Given the description of an element on the screen output the (x, y) to click on. 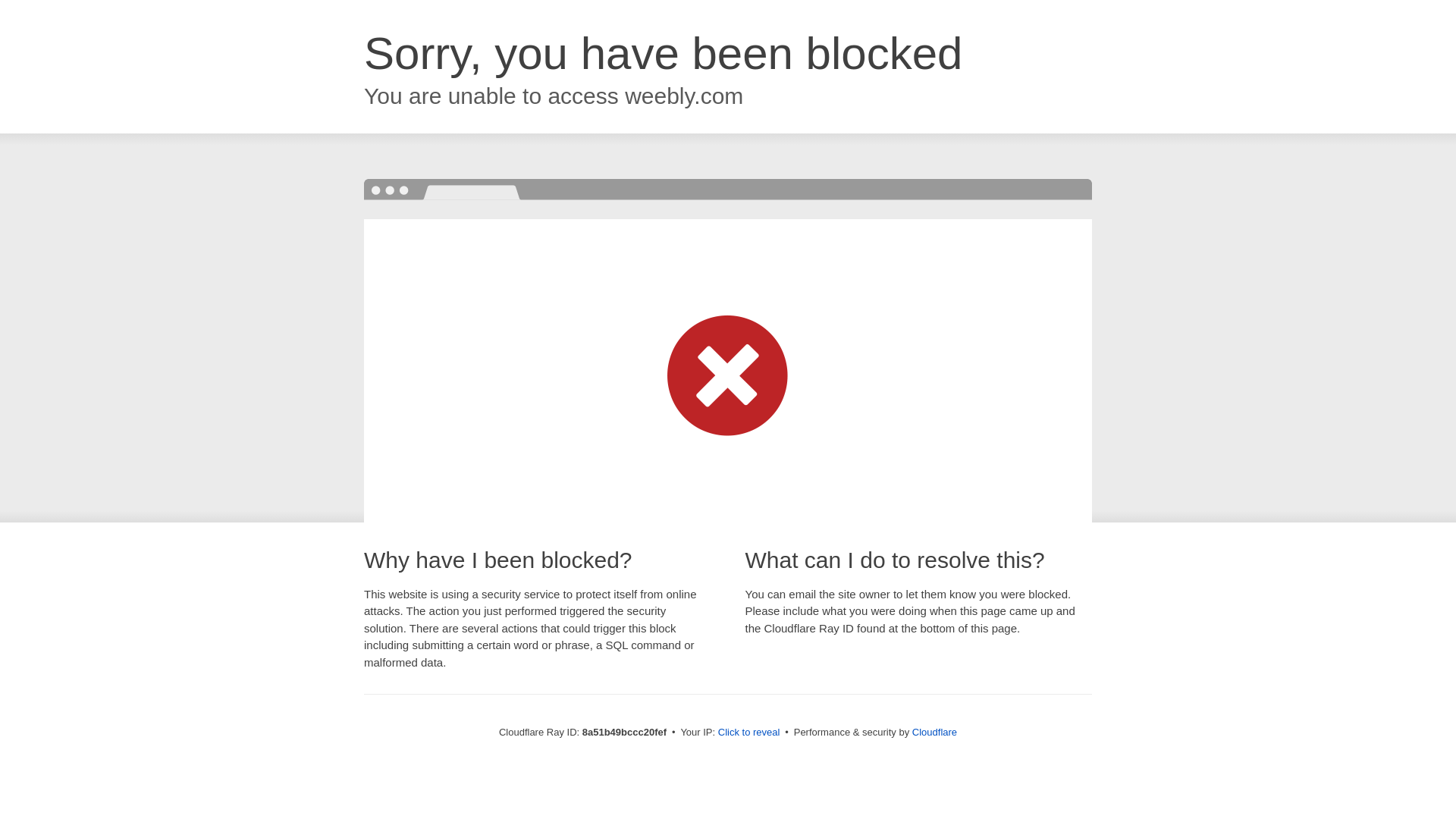
Click to reveal (748, 732)
Cloudflare (934, 731)
